Given the description of an element on the screen output the (x, y) to click on. 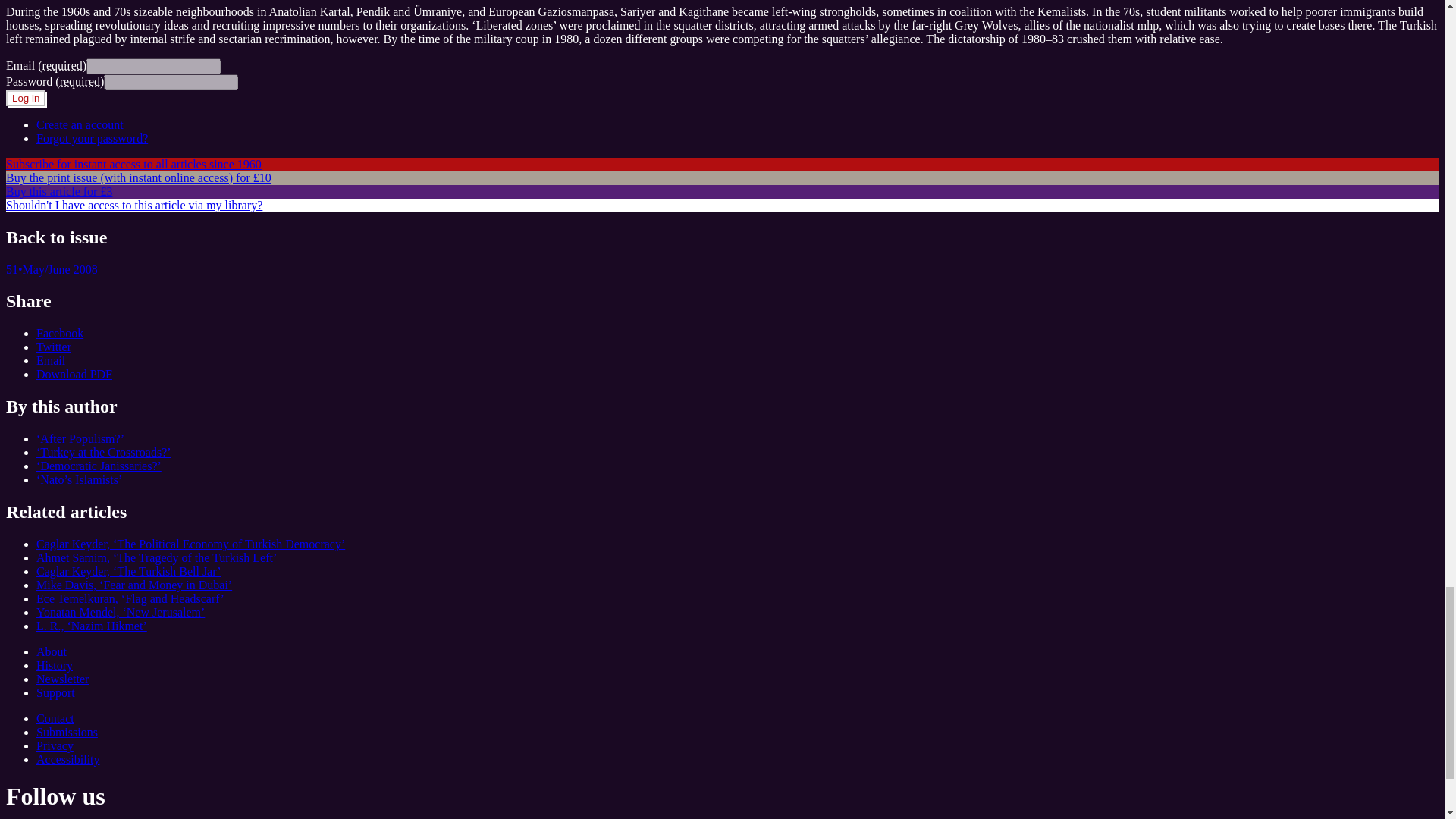
Email (50, 359)
Forgot your password? (92, 137)
Download PDF (74, 373)
Twitter (53, 346)
Facebook (59, 332)
you must complete this field (61, 65)
Create an account (79, 124)
you must complete this field (79, 81)
Log in (25, 98)
Log in (25, 98)
